Given the description of an element on the screen output the (x, y) to click on. 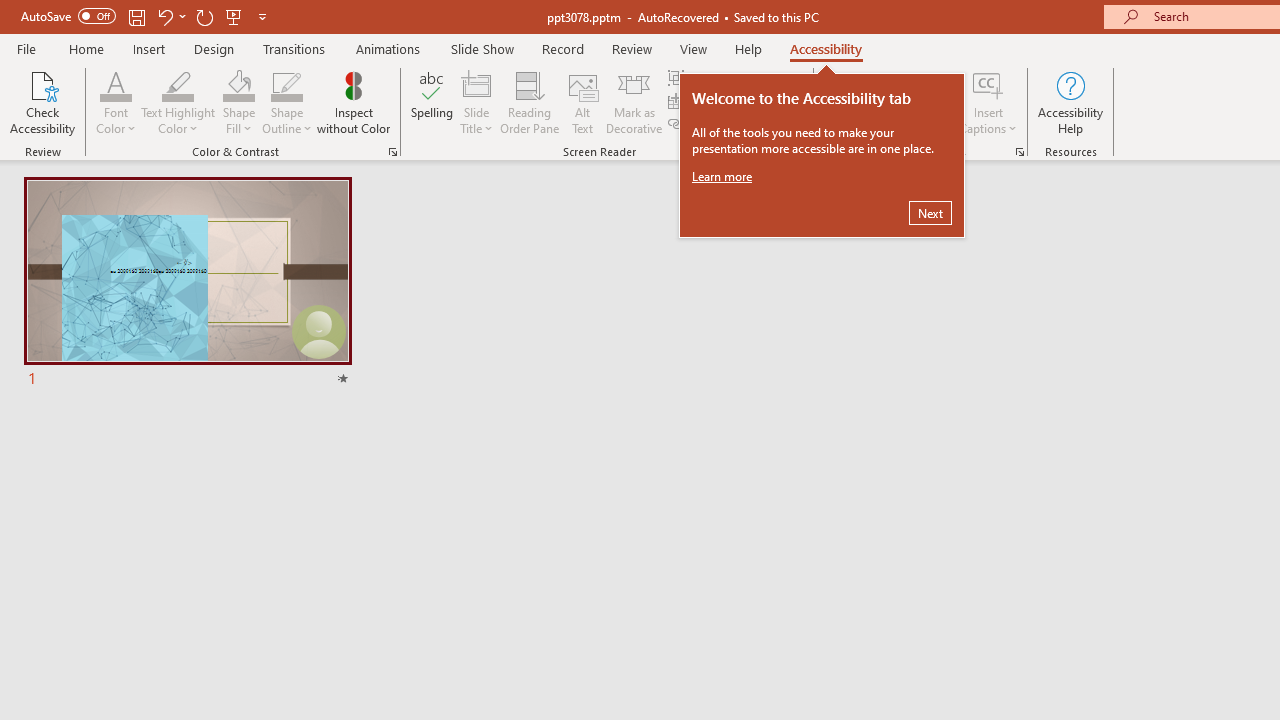
Always Use Subtitles (889, 87)
Learn more (724, 176)
Screen Reader (805, 151)
Next (930, 212)
Insert Captions (988, 102)
Captions & Subtitles (1019, 151)
Shape Outline (286, 84)
Color & Contrast (392, 151)
Link Text (702, 124)
